Given the description of an element on the screen output the (x, y) to click on. 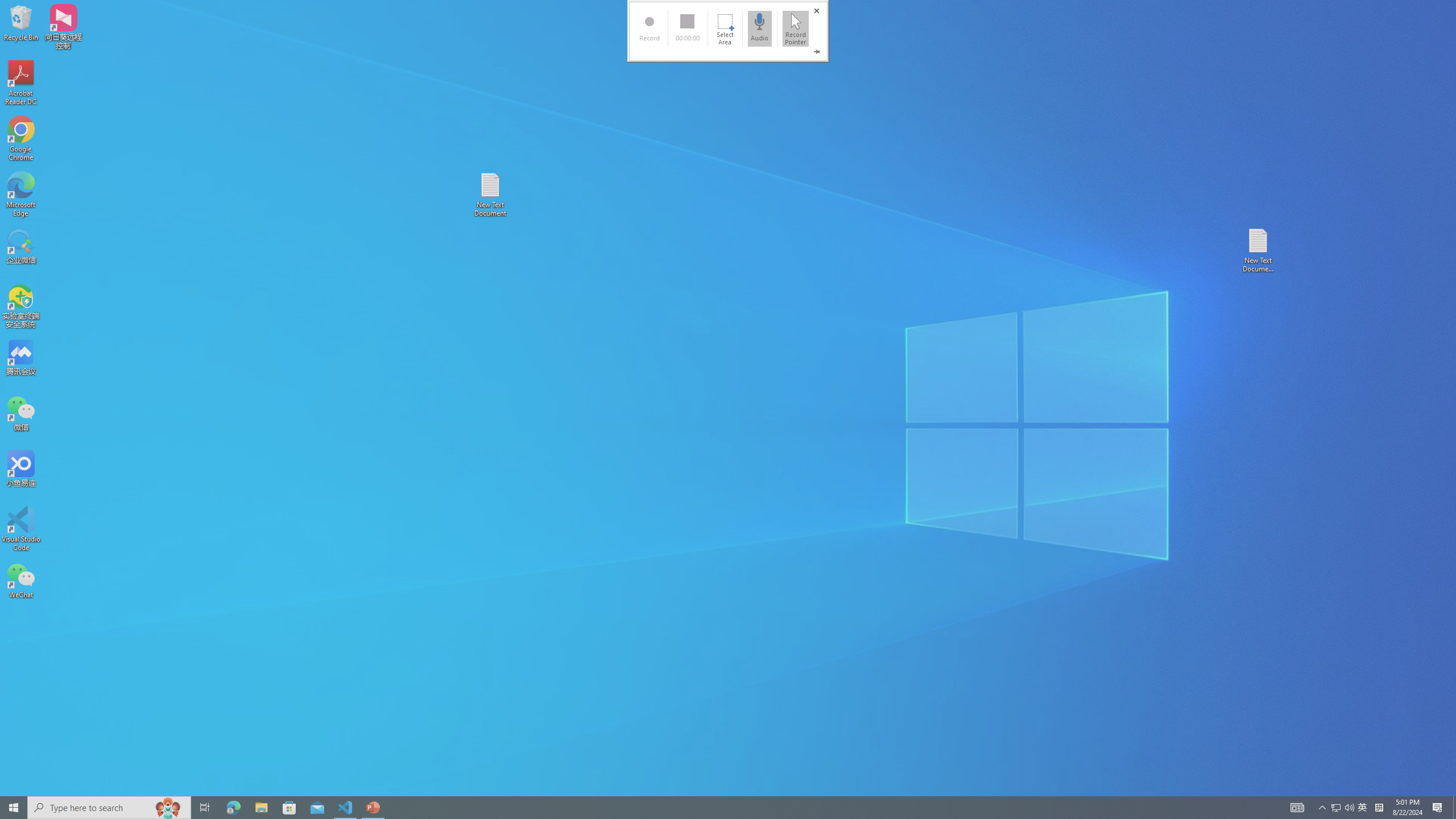
00:00:00 (686, 28)
Pin the Dock (Windows logo key+Shift+I) (816, 51)
Close (Windows logo key+Shift+Q) (816, 11)
Record Pointer (795, 28)
MiniBar (727, 31)
Audio (759, 28)
Select Area (724, 28)
